Given the description of an element on the screen output the (x, y) to click on. 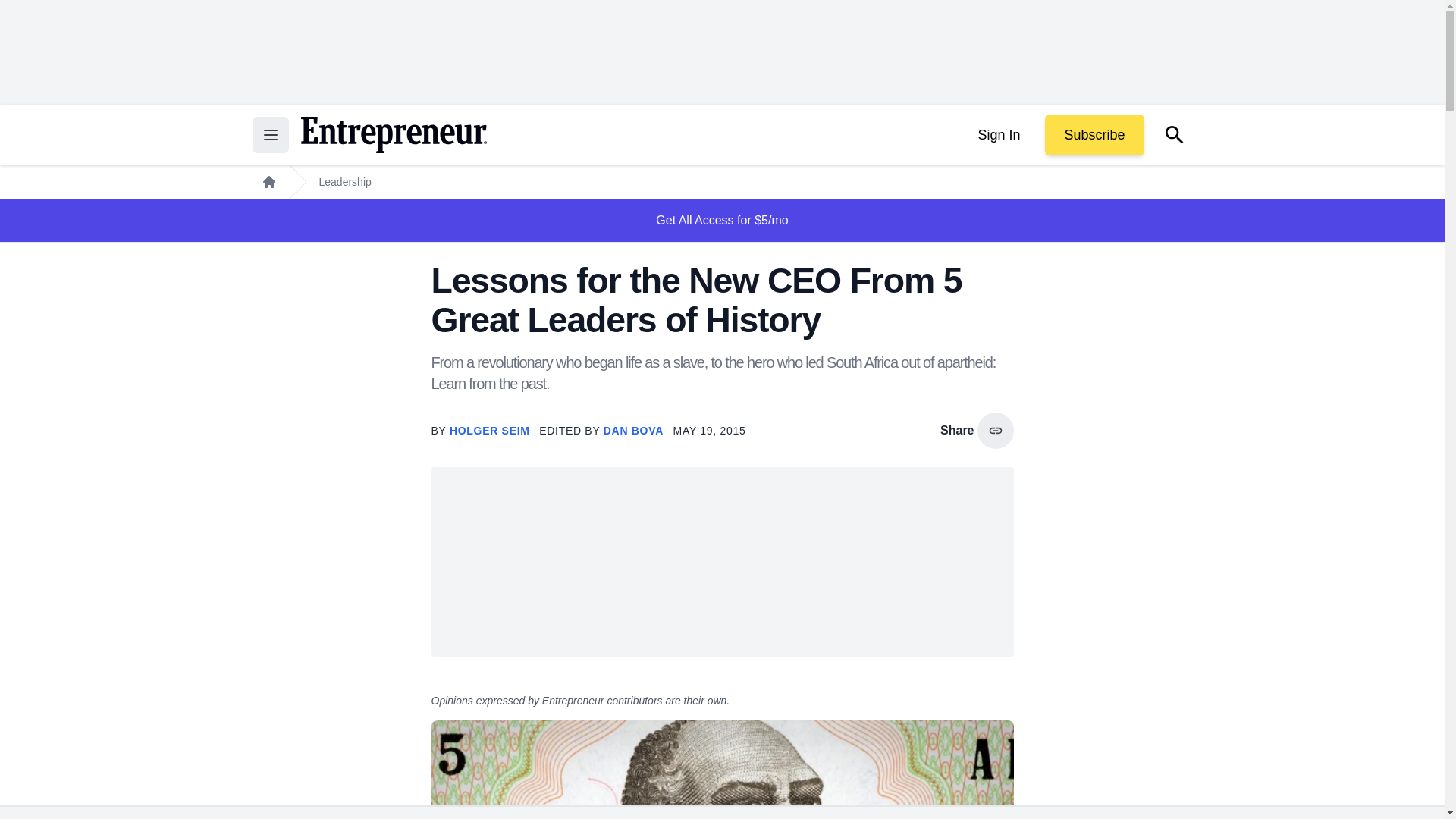
Return to the home page (392, 135)
copy (994, 430)
Subscribe (1093, 134)
Sign In (998, 134)
